Given the description of an element on the screen output the (x, y) to click on. 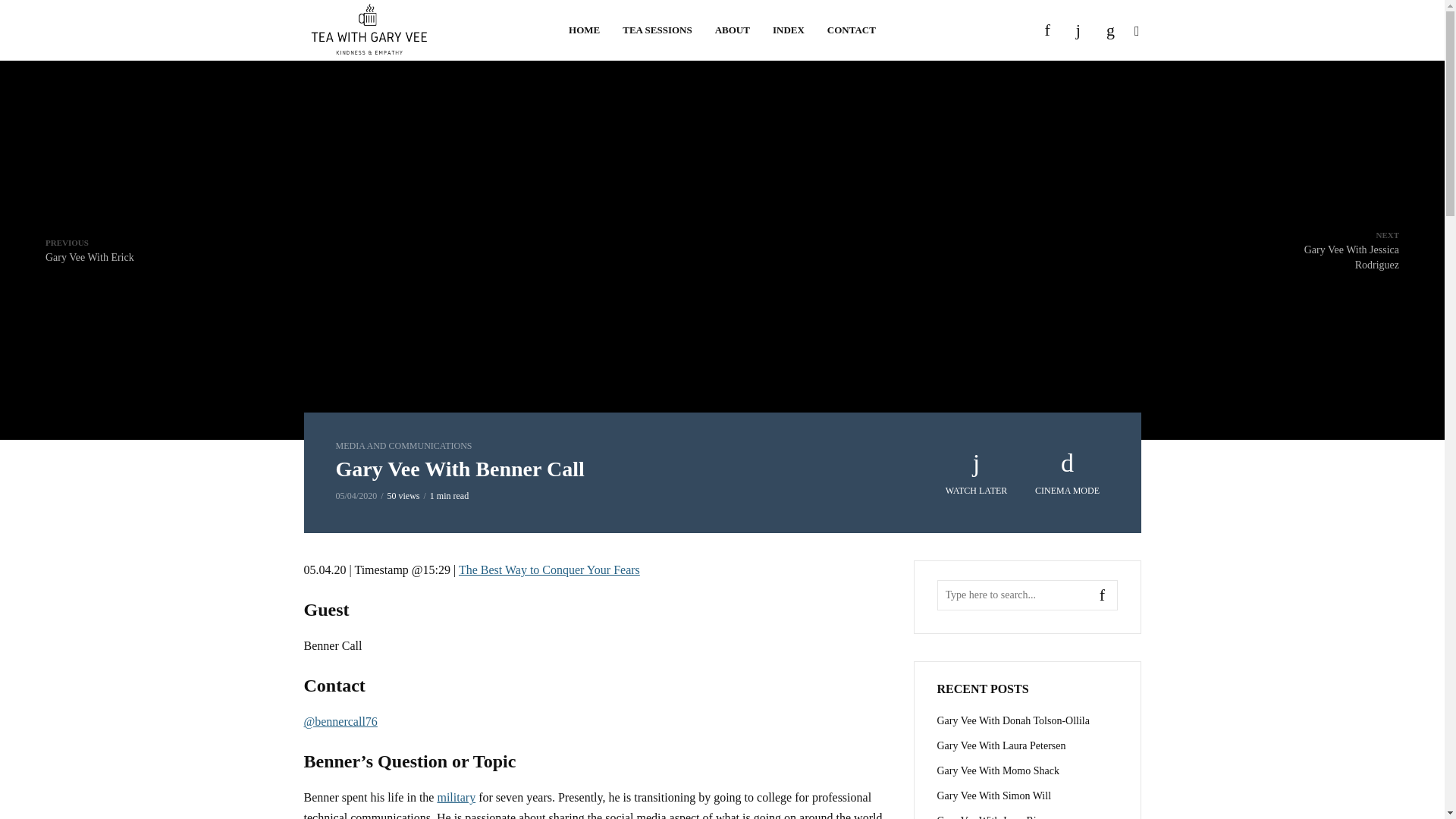
ABOUT (732, 30)
TEA SESSIONS (657, 30)
CONTACT (850, 30)
CINEMA MODE (1329, 249)
INDEX (1067, 473)
HOME (89, 250)
MEDIA AND COMMUNICATIONS (788, 30)
The Best Way to Conquer Your Fears (584, 30)
